Given the description of an element on the screen output the (x, y) to click on. 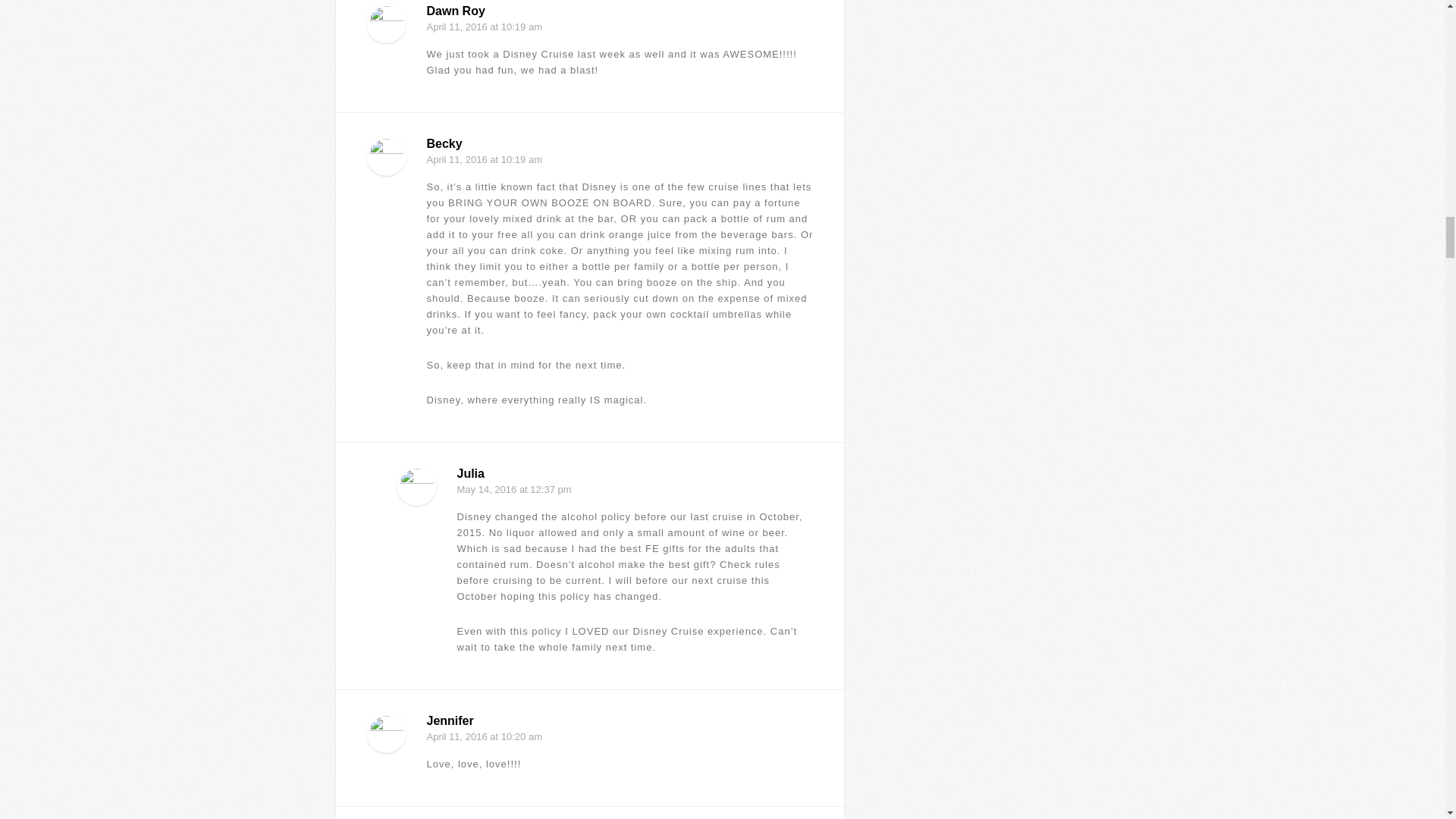
May 14, 2016 (486, 489)
April 11, 2016 (456, 26)
April 11, 2016 (456, 736)
Comment Permalink (804, 84)
Comment Permalink (804, 414)
Comment Permalink (804, 777)
Comment Permalink (804, 661)
April 11, 2016 (456, 159)
